Given the description of an element on the screen output the (x, y) to click on. 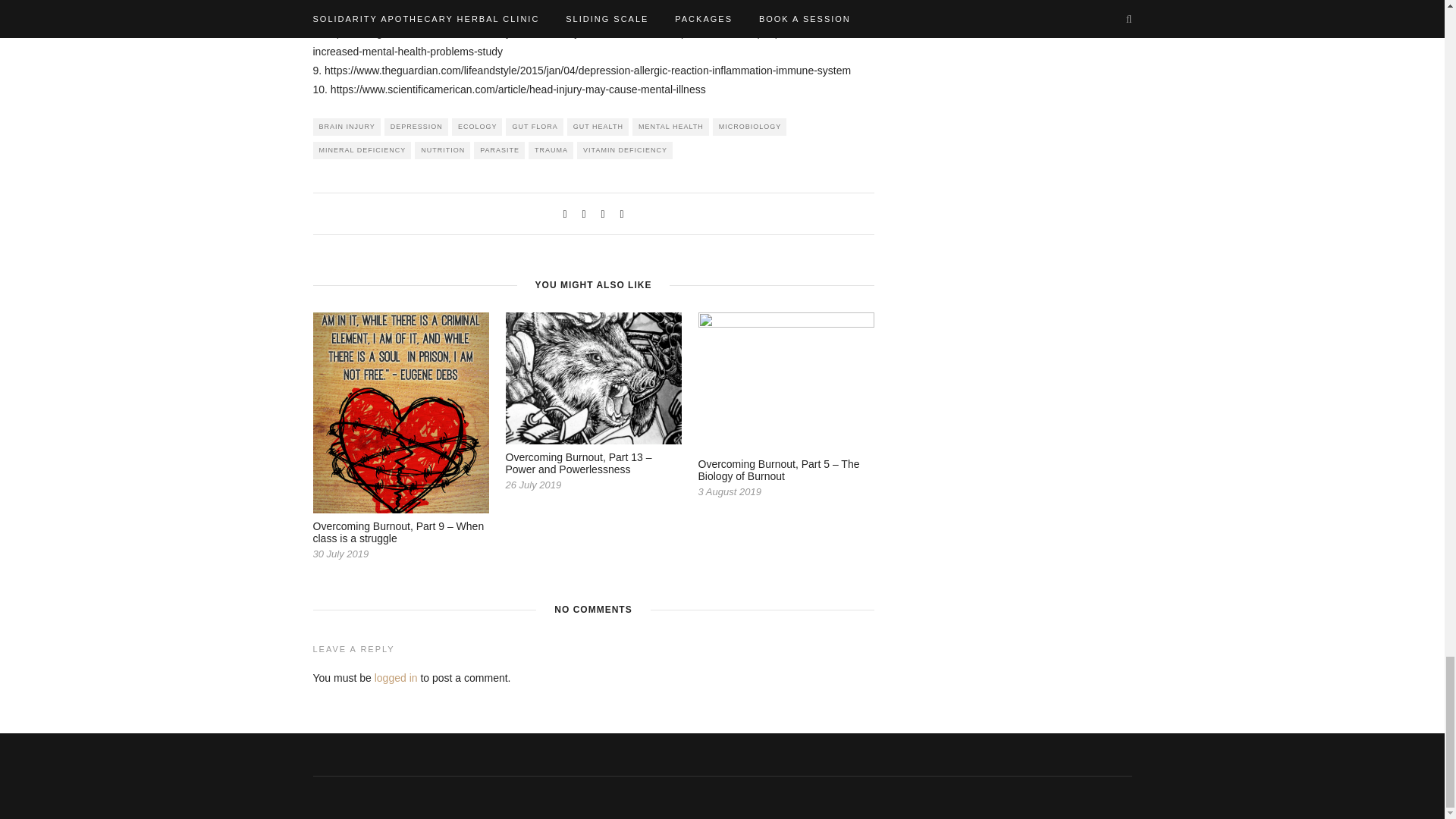
BRAIN INJURY (346, 126)
DEPRESSION (416, 126)
MICROBIOLOGY (750, 126)
VITAMIN DEFICIENCY (624, 149)
GUT FLORA (533, 126)
MINERAL DEFICIENCY (361, 149)
TRAUMA (550, 149)
logged in (395, 677)
MENTAL HEALTH (670, 126)
PARASITE (499, 149)
